Given the description of an element on the screen output the (x, y) to click on. 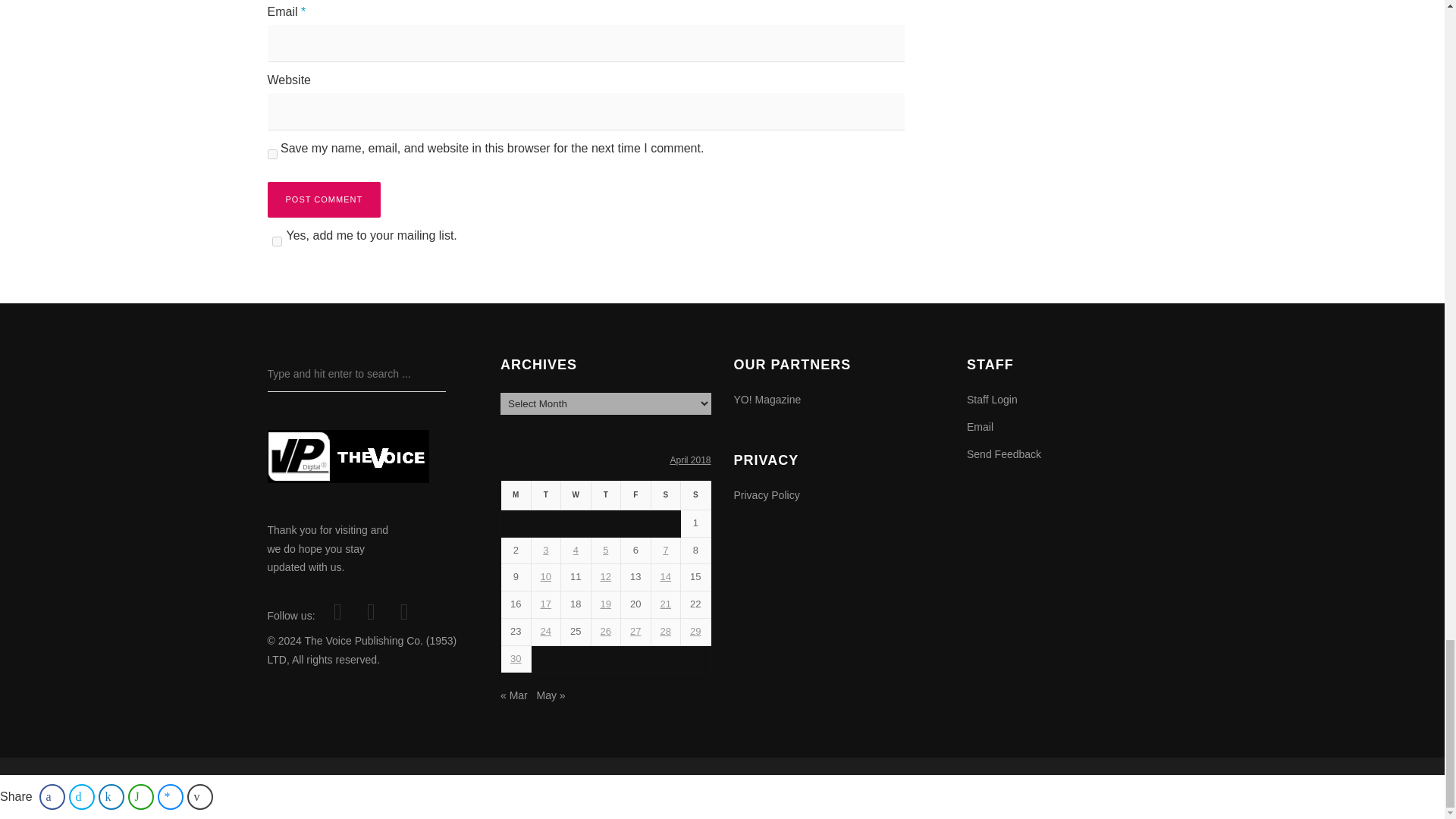
Post Comment (323, 199)
yes (271, 153)
1 (275, 241)
Type and hit enter to search ... (355, 374)
Type and hit enter to search ... (355, 374)
